Given the description of an element on the screen output the (x, y) to click on. 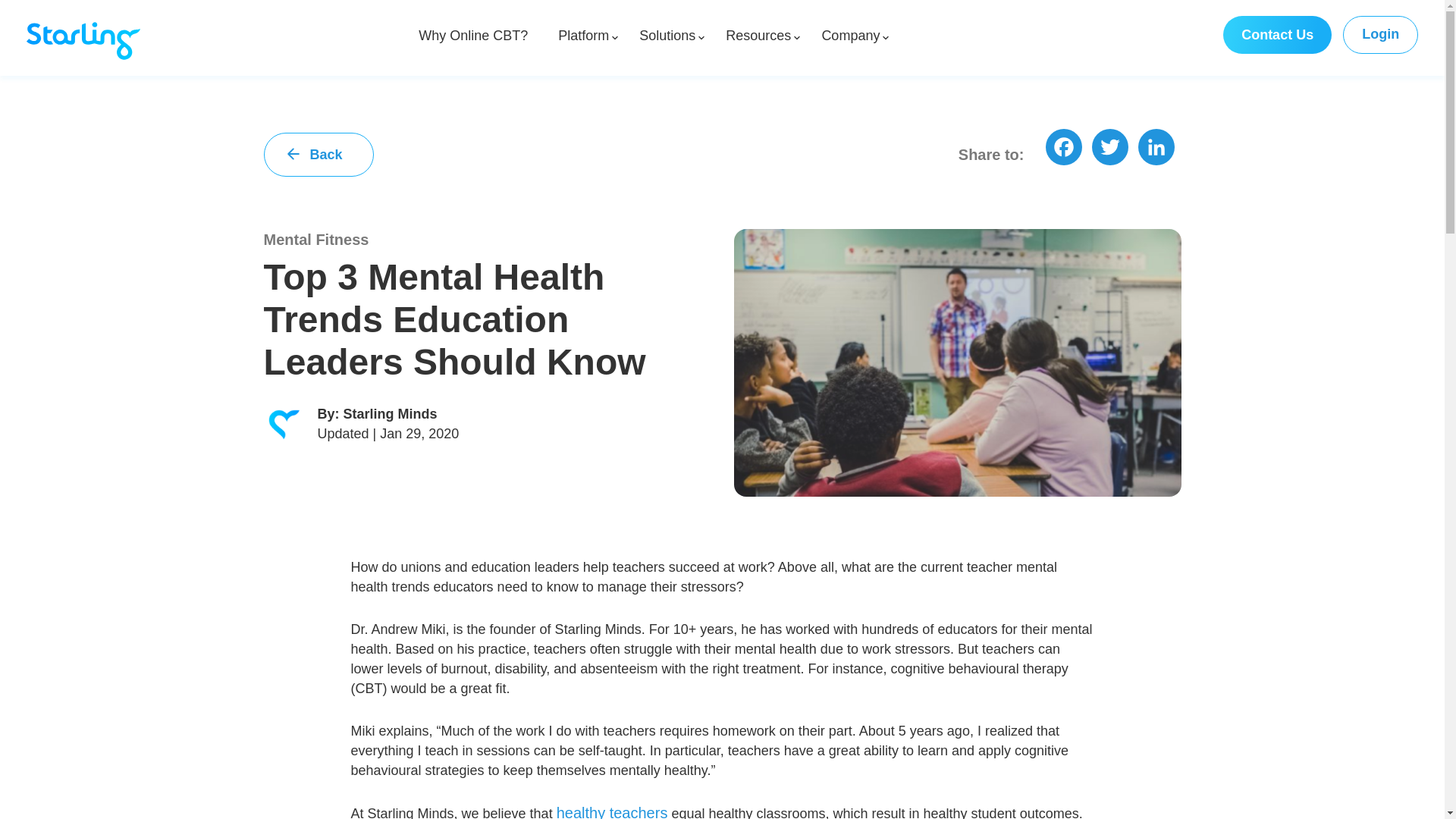
Contact Us (1277, 34)
Company (850, 34)
Twitter (1112, 153)
LinkedIn (1157, 153)
Platform (582, 34)
LinkedIn (1157, 153)
Why Online CBT? (473, 34)
healthy teachers (612, 811)
Facebook (1064, 153)
Back (318, 153)
Facebook (1064, 153)
Resources (757, 34)
Login (1380, 33)
Solutions (667, 34)
Twitter (1112, 153)
